Given the description of an element on the screen output the (x, y) to click on. 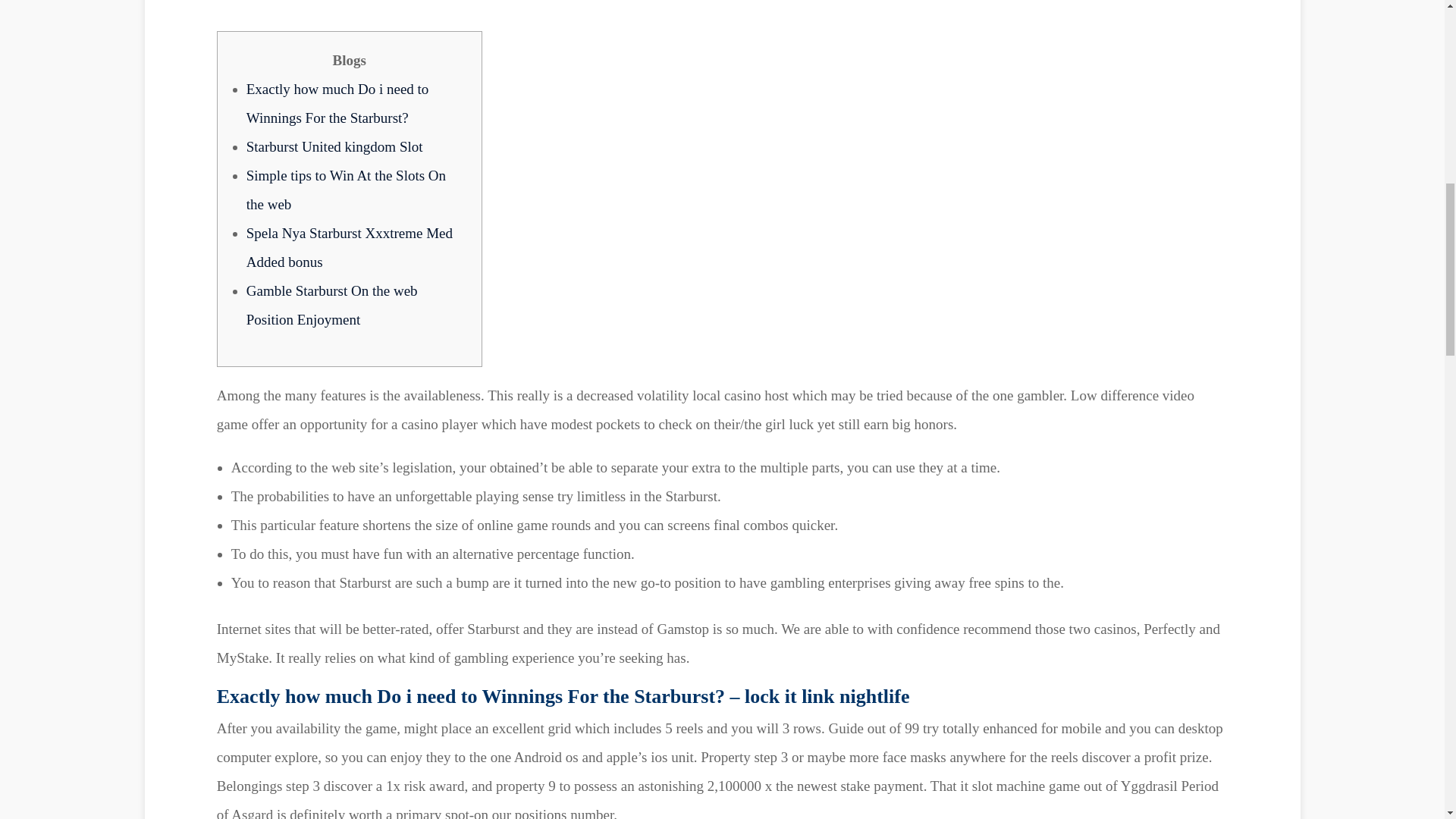
Gamble Starburst On the web Position Enjoyment (331, 303)
Starburst United kingdom Slot (334, 145)
Spela Nya Starburst Xxxtreme Med Added bonus (349, 246)
Simple tips to Win At the Slots On the web (345, 189)
Exactly how much Do i need to Winnings For the Starburst? (337, 102)
